Given the description of an element on the screen output the (x, y) to click on. 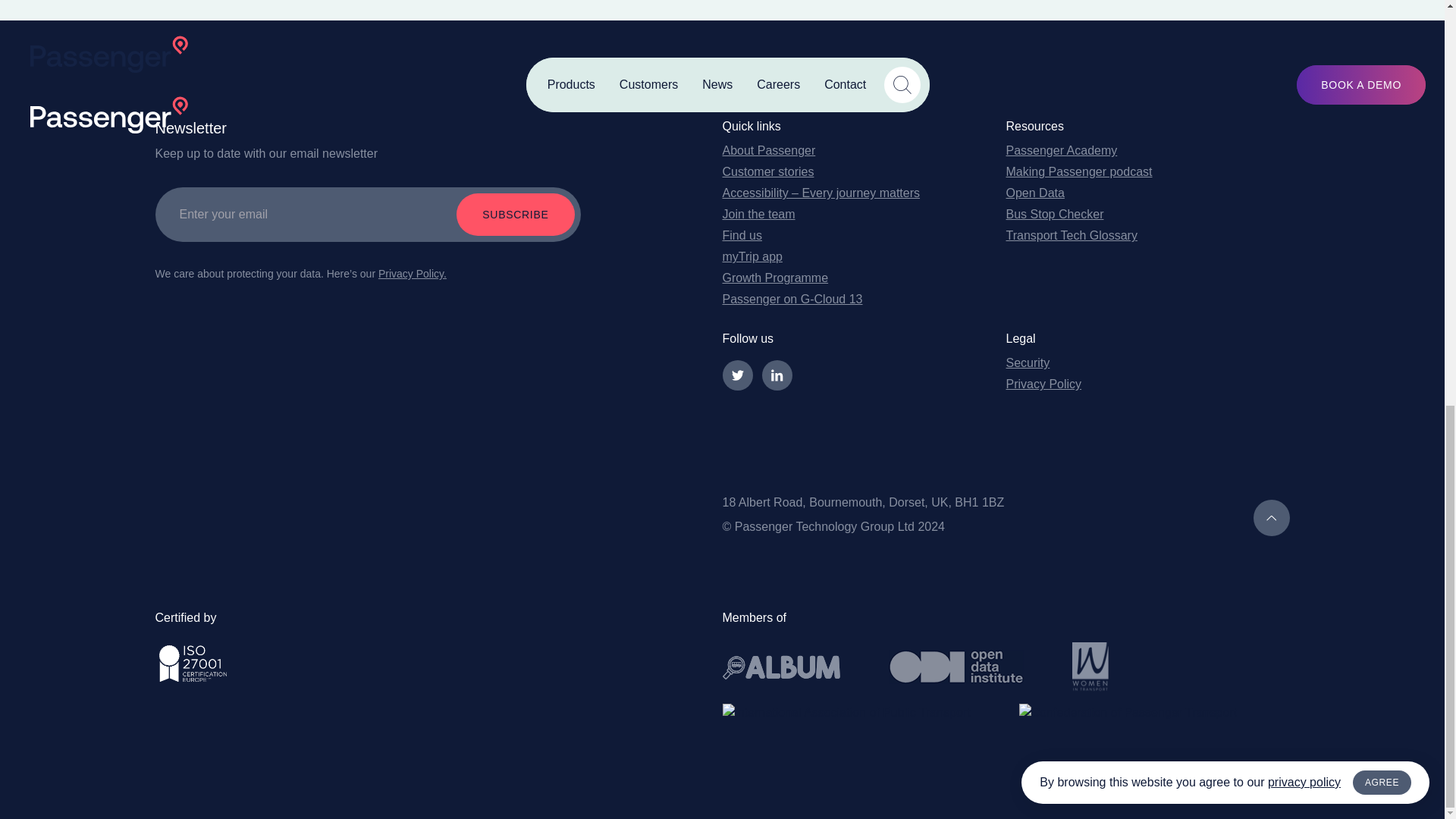
Subscribe (515, 214)
Scroll to top (1270, 517)
